Given the description of an element on the screen output the (x, y) to click on. 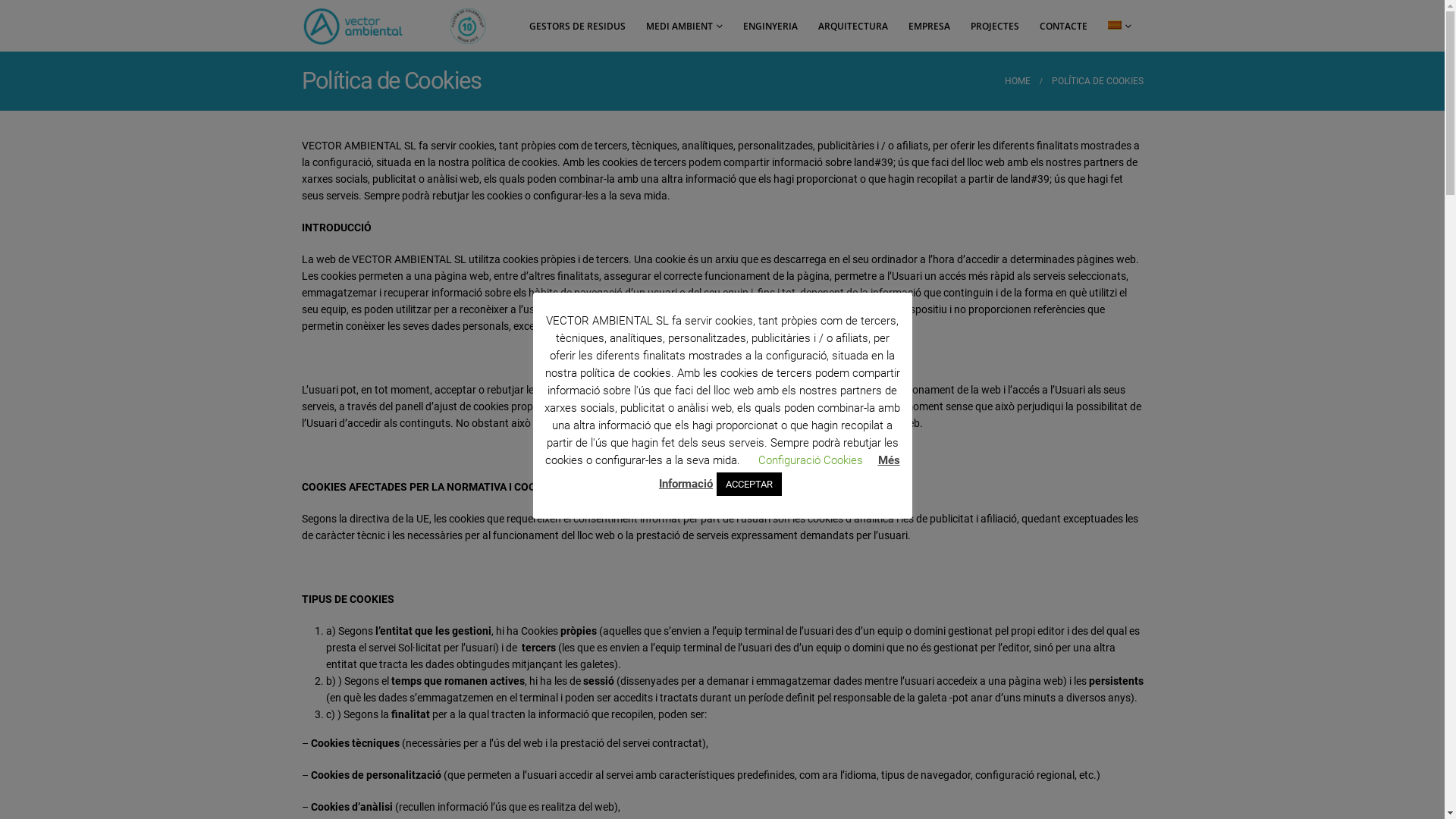
MEDI AMBIENT Element type: text (683, 25)
GESTORS DE RESIDUS Element type: text (576, 25)
EMPRESA Element type: text (928, 25)
ENGINYERIA Element type: text (769, 25)
ARQUITECTURA Element type: text (852, 25)
PROJECTES Element type: text (994, 25)
HOME Element type: text (1016, 80)
CONTACTE Element type: text (1063, 25)
ACCEPTAR Element type: text (748, 483)
